Given the description of an element on the screen output the (x, y) to click on. 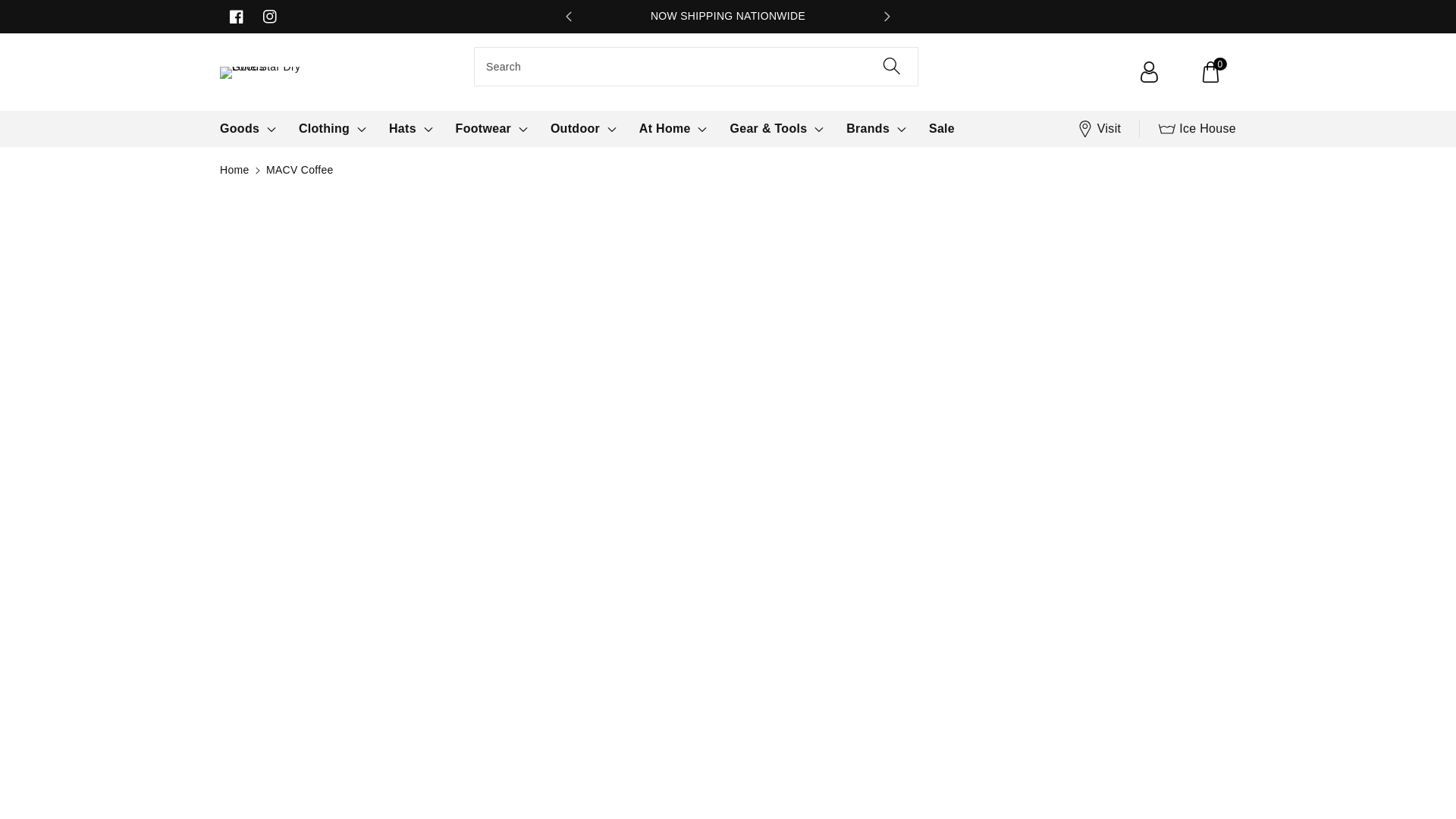
Facebook (236, 16)
Skip to content (13, 8)
Home (233, 169)
Instagram (269, 16)
